Given the description of an element on the screen output the (x, y) to click on. 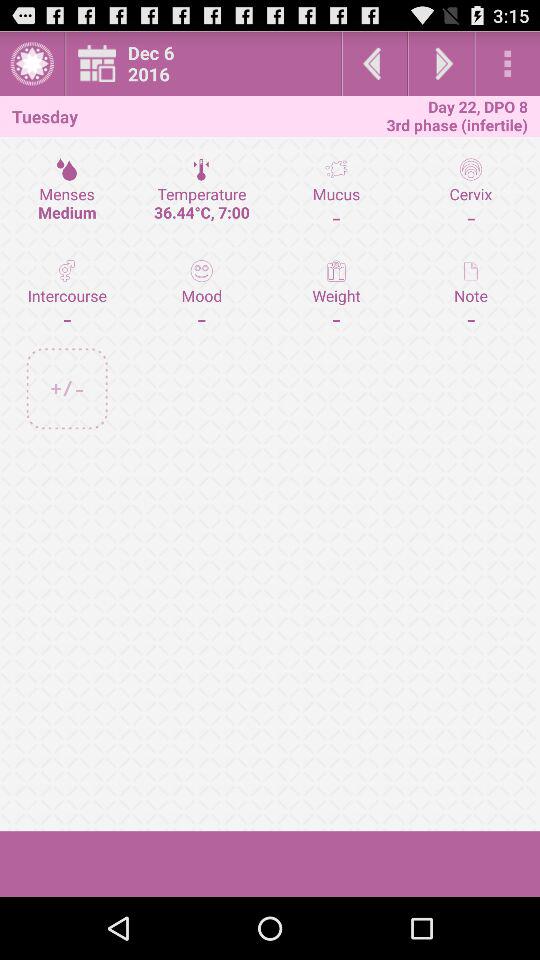
select app next to the tuesday item (209, 63)
